Given the description of an element on the screen output the (x, y) to click on. 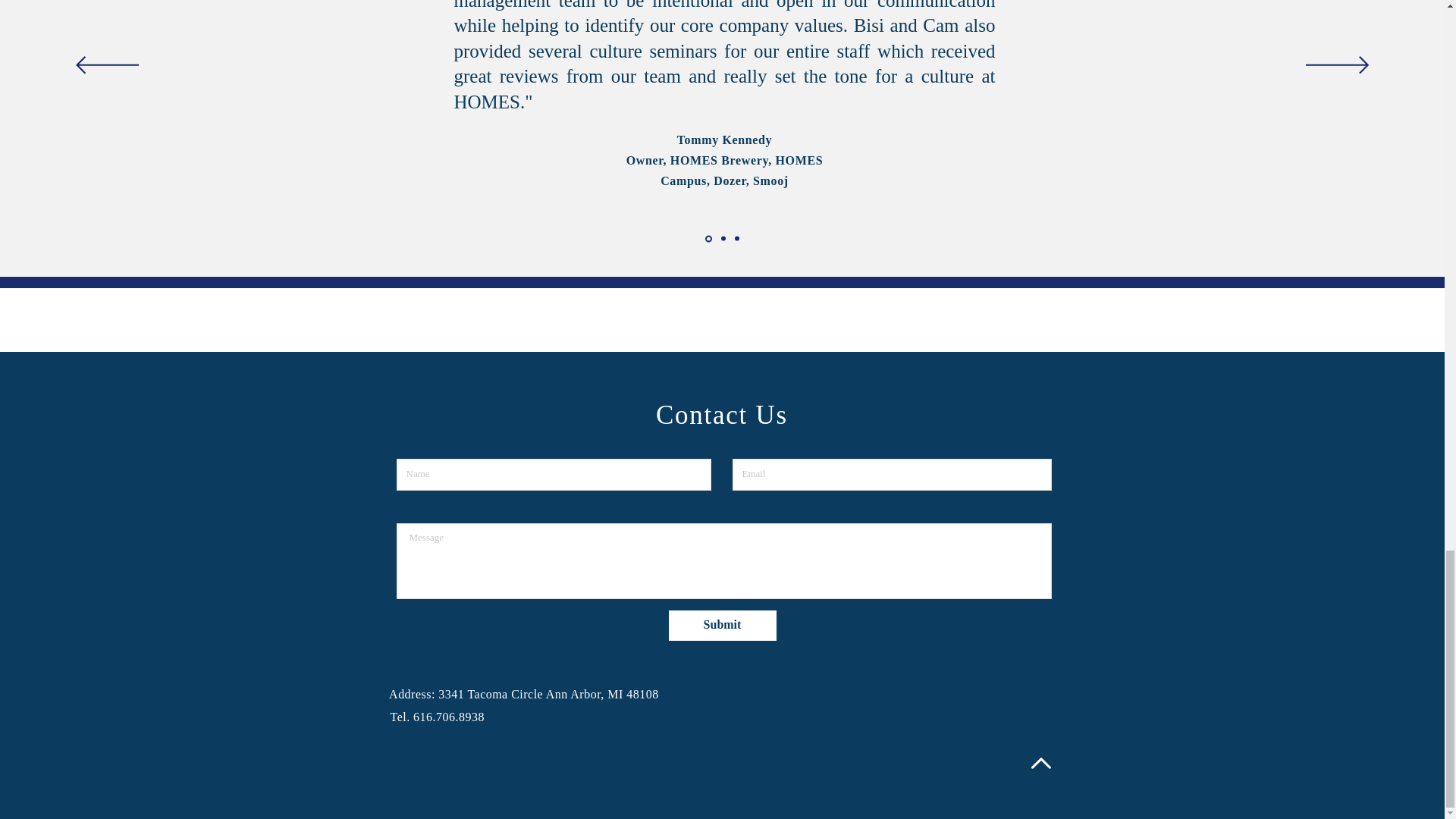
Submit (722, 625)
